Given the description of an element on the screen output the (x, y) to click on. 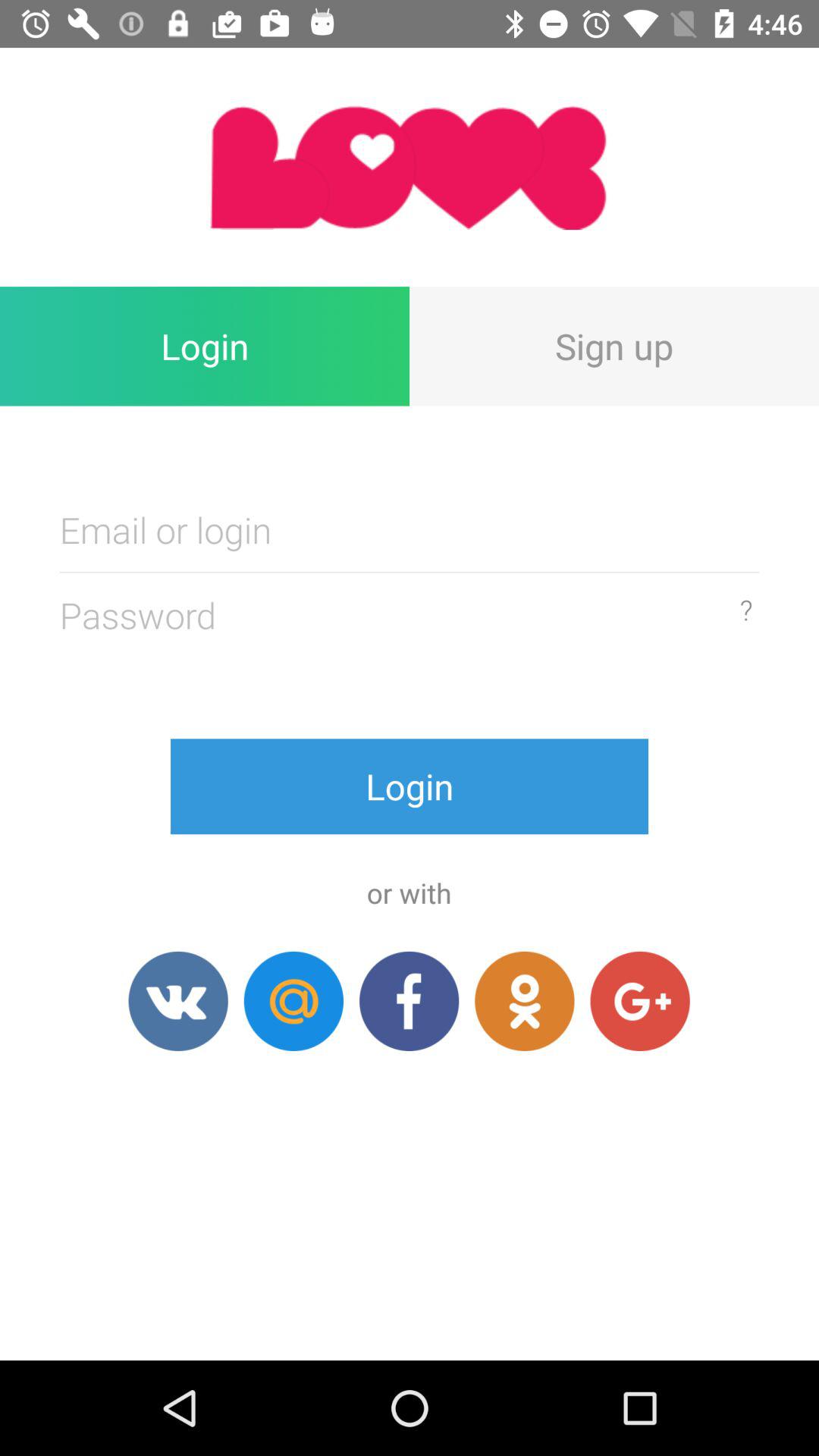
open the sign up icon (614, 346)
